Given the description of an element on the screen output the (x, y) to click on. 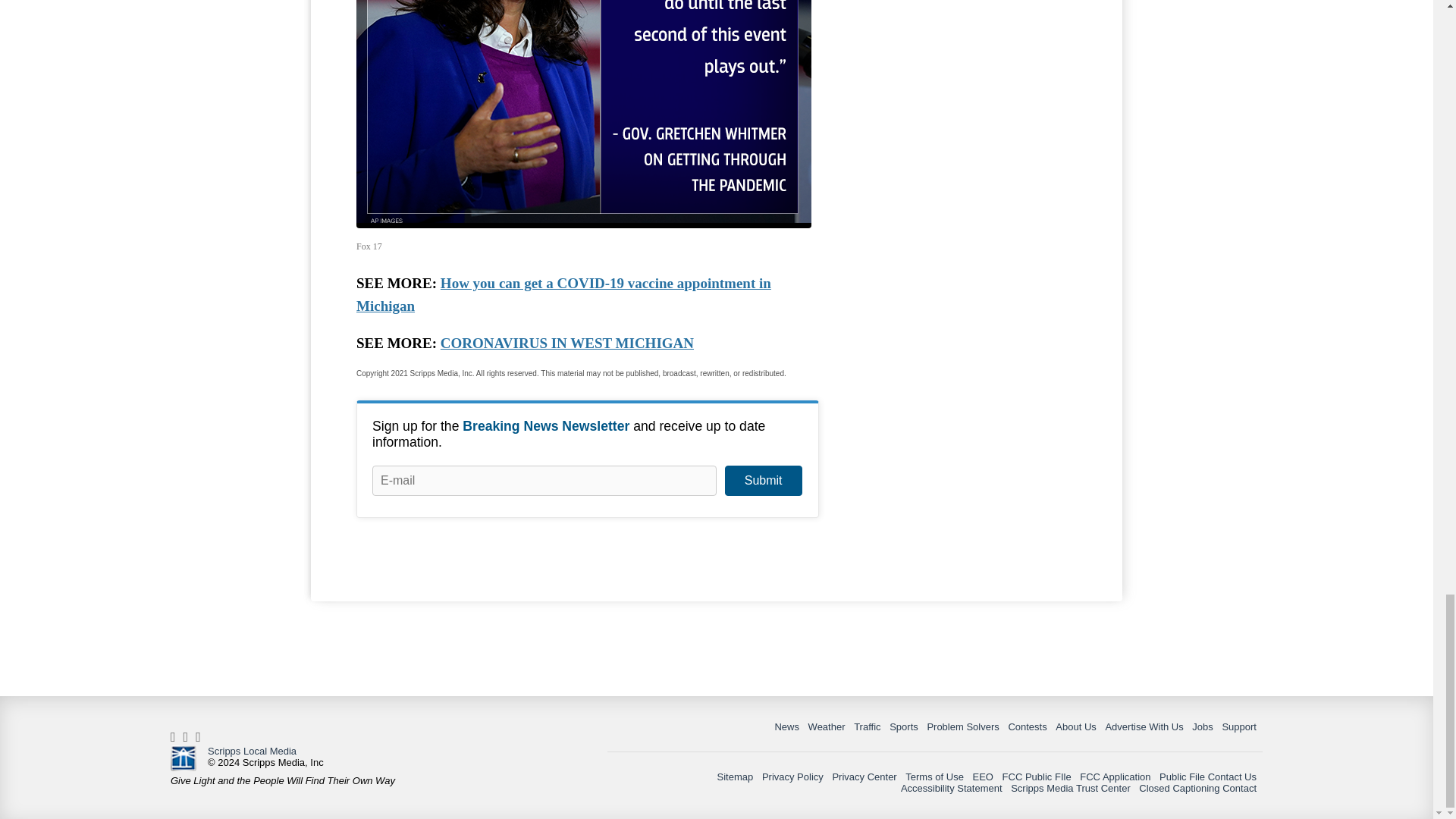
Submit (763, 481)
